Given the description of an element on the screen output the (x, y) to click on. 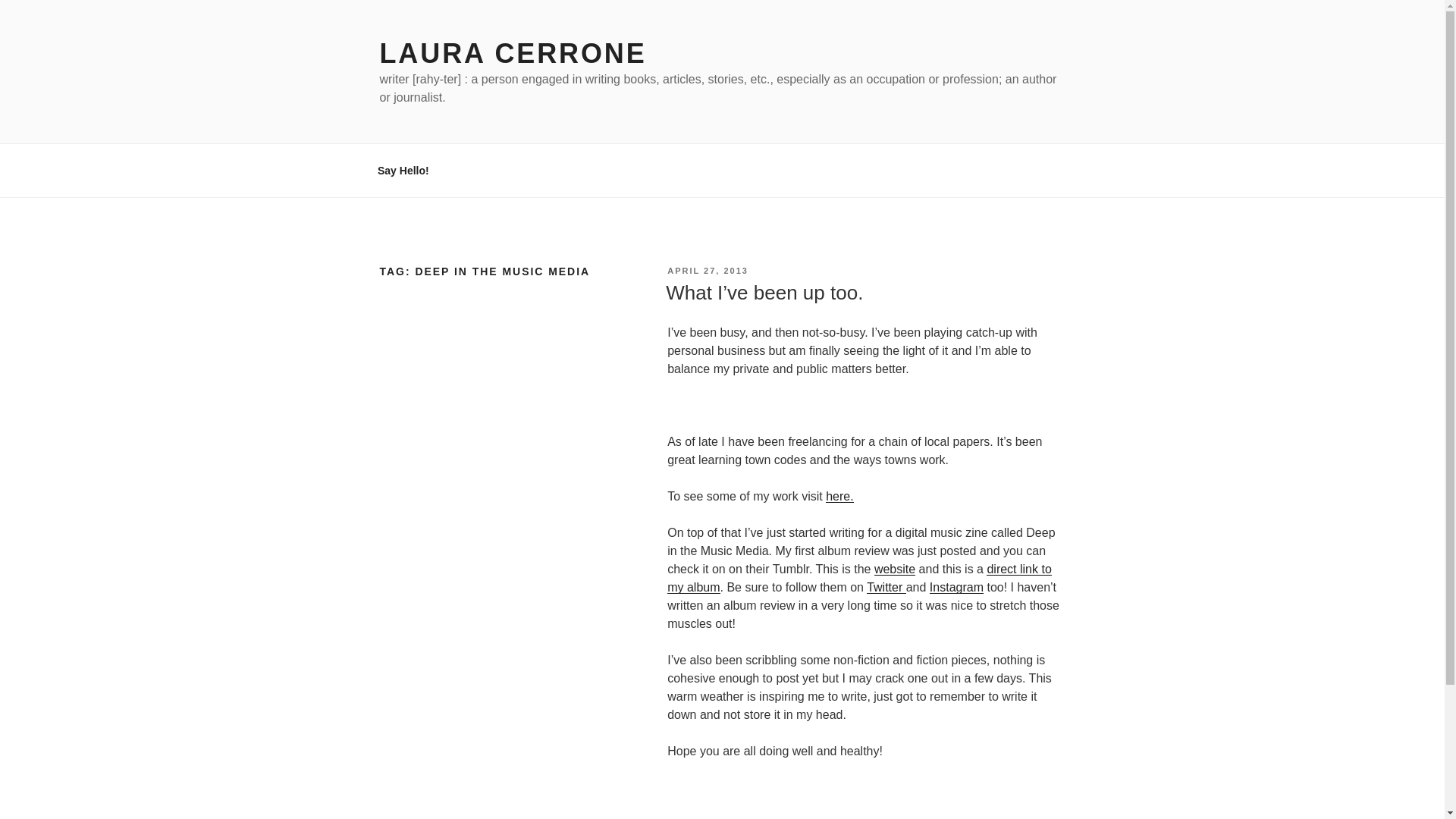
APRIL 27, 2013 (707, 270)
DITMM Instagram (957, 586)
Twitter (885, 586)
Deep in the Music Media (895, 568)
direct link to my album (858, 577)
Say Hello! (403, 170)
LAURA CERRONE (512, 52)
website (895, 568)
here. (839, 495)
DITMM Twitter (885, 586)
Instagram (957, 586)
